Given the description of an element on the screen output the (x, y) to click on. 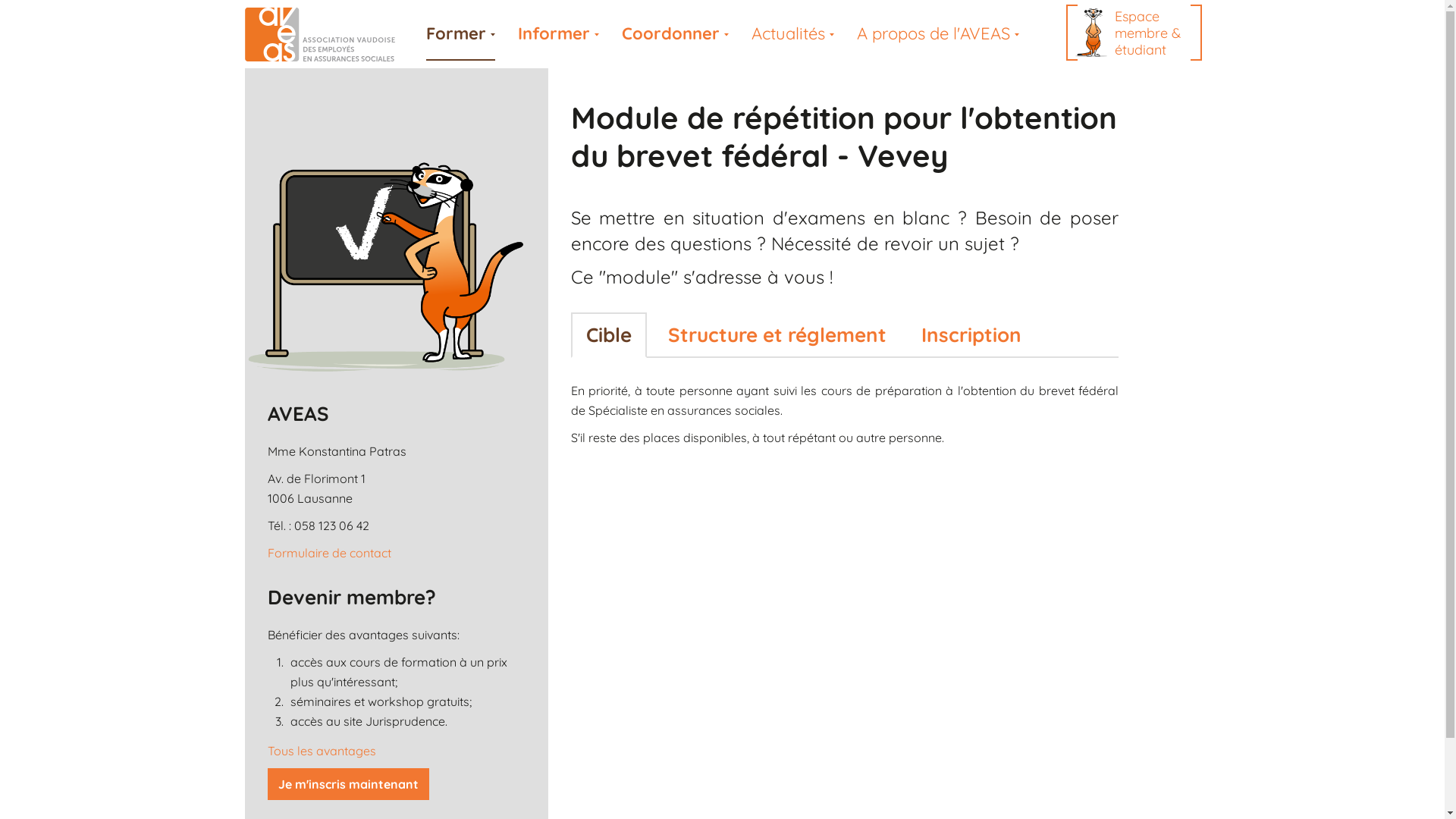
Inscription Element type: text (970, 334)
Je m'inscris maintenant Element type: text (347, 784)
Accueil Element type: hover (328, 34)
Formulaire de contact Element type: text (328, 552)
Tous les avantages Element type: text (320, 750)
Cible Element type: text (608, 334)
